Given the description of an element on the screen output the (x, y) to click on. 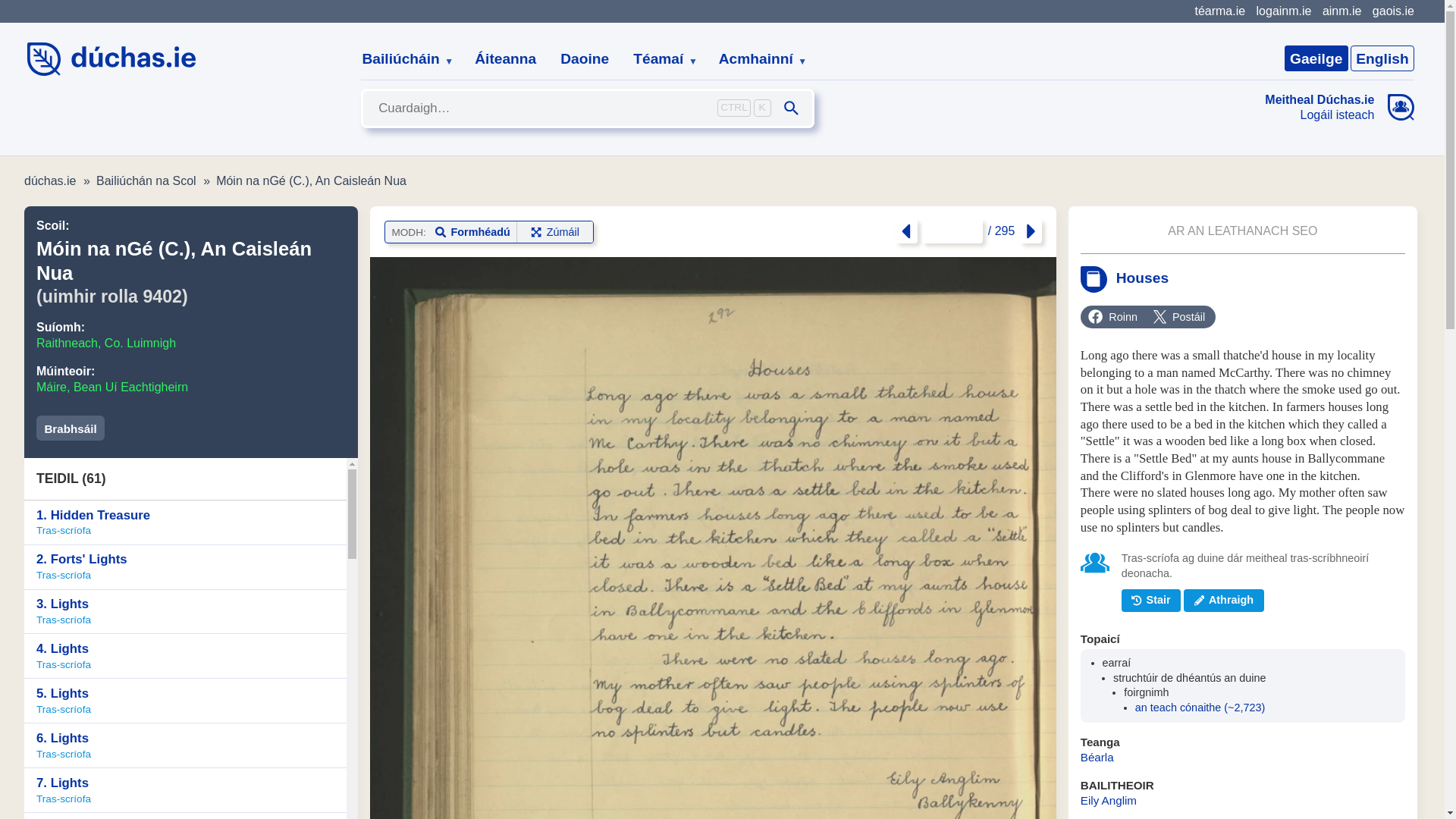
logainm.ie (1283, 11)
Gaeilge (1316, 58)
ainm.ie (1341, 11)
English (1382, 58)
gaois.ie (1393, 11)
Raithneach, Co. Luimnigh (106, 342)
Daoine (584, 58)
